Given the description of an element on the screen output the (x, y) to click on. 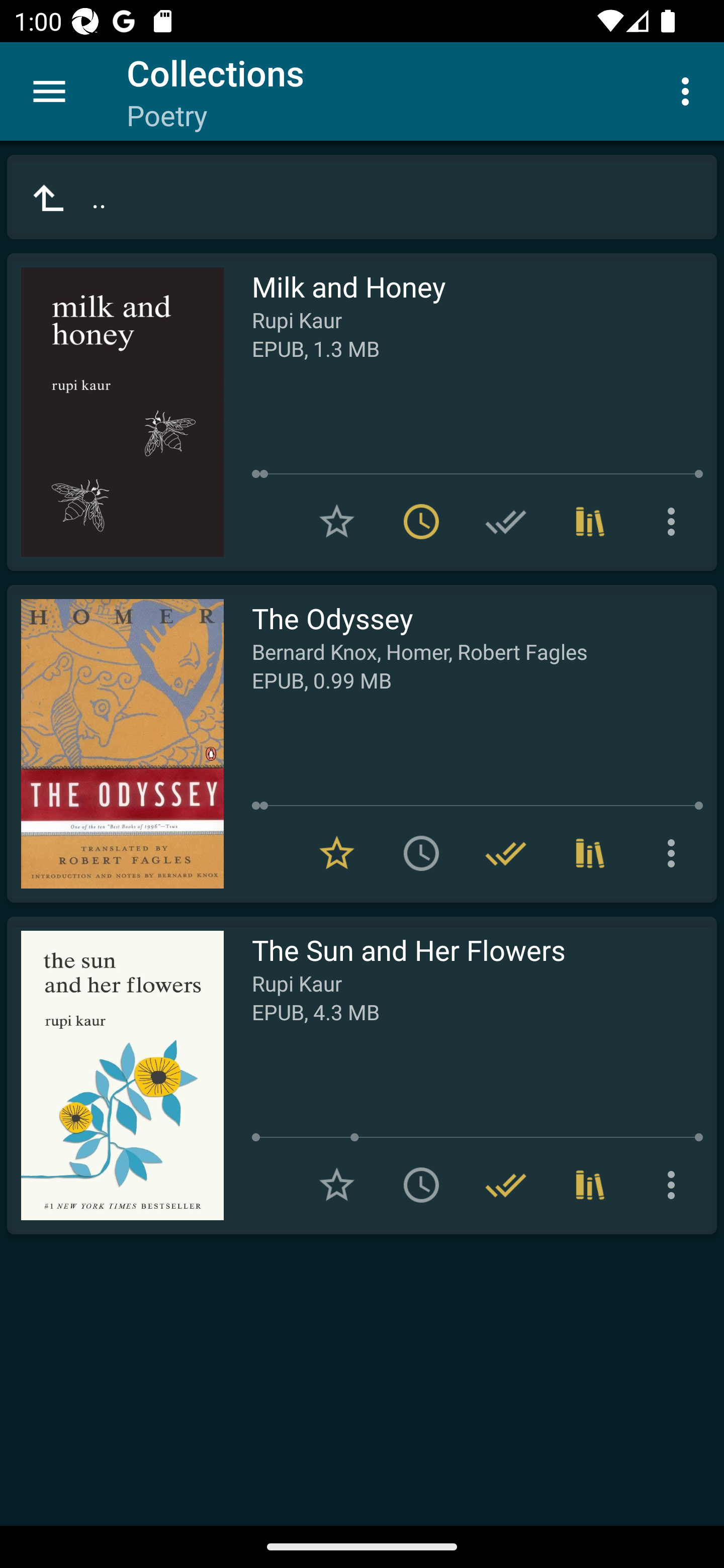
Menu (49, 91)
More options (688, 90)
.. (361, 197)
Read Milk and Honey (115, 412)
Add to Favorites (336, 521)
Remove from To read (421, 521)
Add to Have read (505, 521)
Collections (3) (590, 521)
More options (674, 521)
Read The Odyssey (115, 743)
Remove from Favorites (336, 852)
Add to To read (421, 852)
Remove from Have read (505, 852)
Collections (3) (590, 852)
More options (674, 852)
Read The Sun and Her Flowers (115, 1075)
Add to Favorites (336, 1185)
Add to To read (421, 1185)
Remove from Have read (505, 1185)
Collections (1) (590, 1185)
More options (674, 1185)
